Given the description of an element on the screen output the (x, y) to click on. 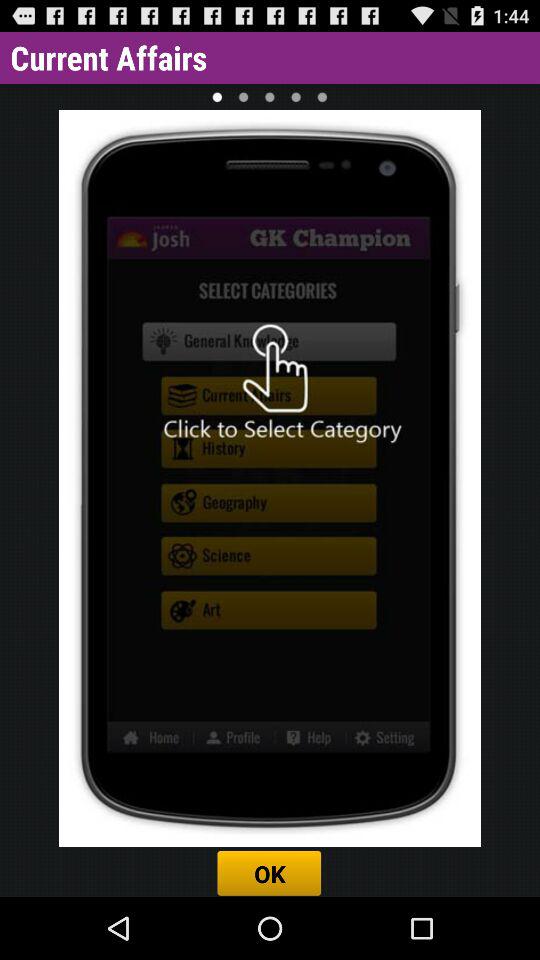
open the ok item (269, 873)
